Given the description of an element on the screen output the (x, y) to click on. 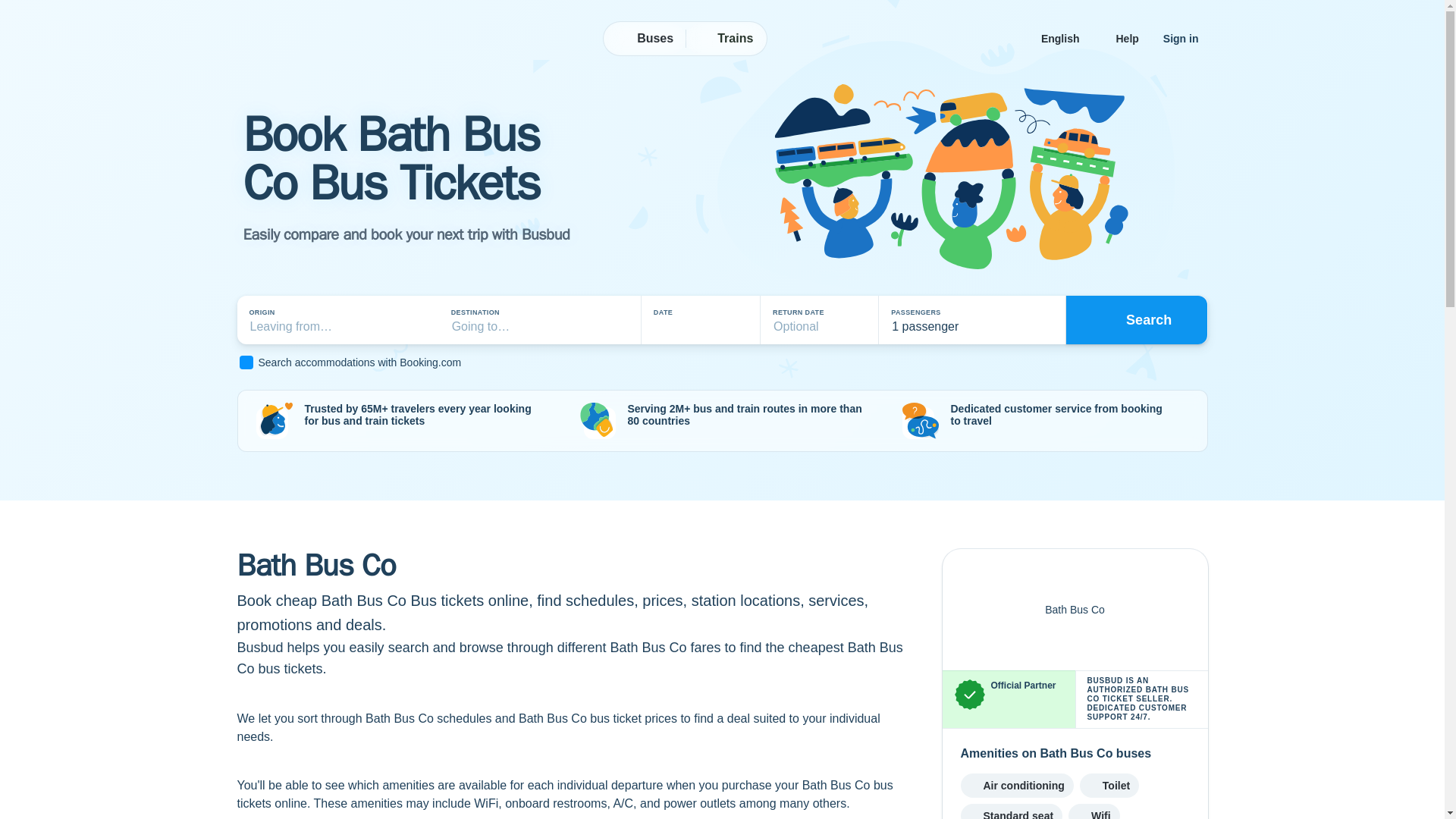
English (1066, 38)
Search (1136, 319)
Trains (725, 38)
1 passenger (971, 319)
Buses (645, 38)
Help (1126, 38)
Sign in (1181, 38)
